Given the description of an element on the screen output the (x, y) to click on. 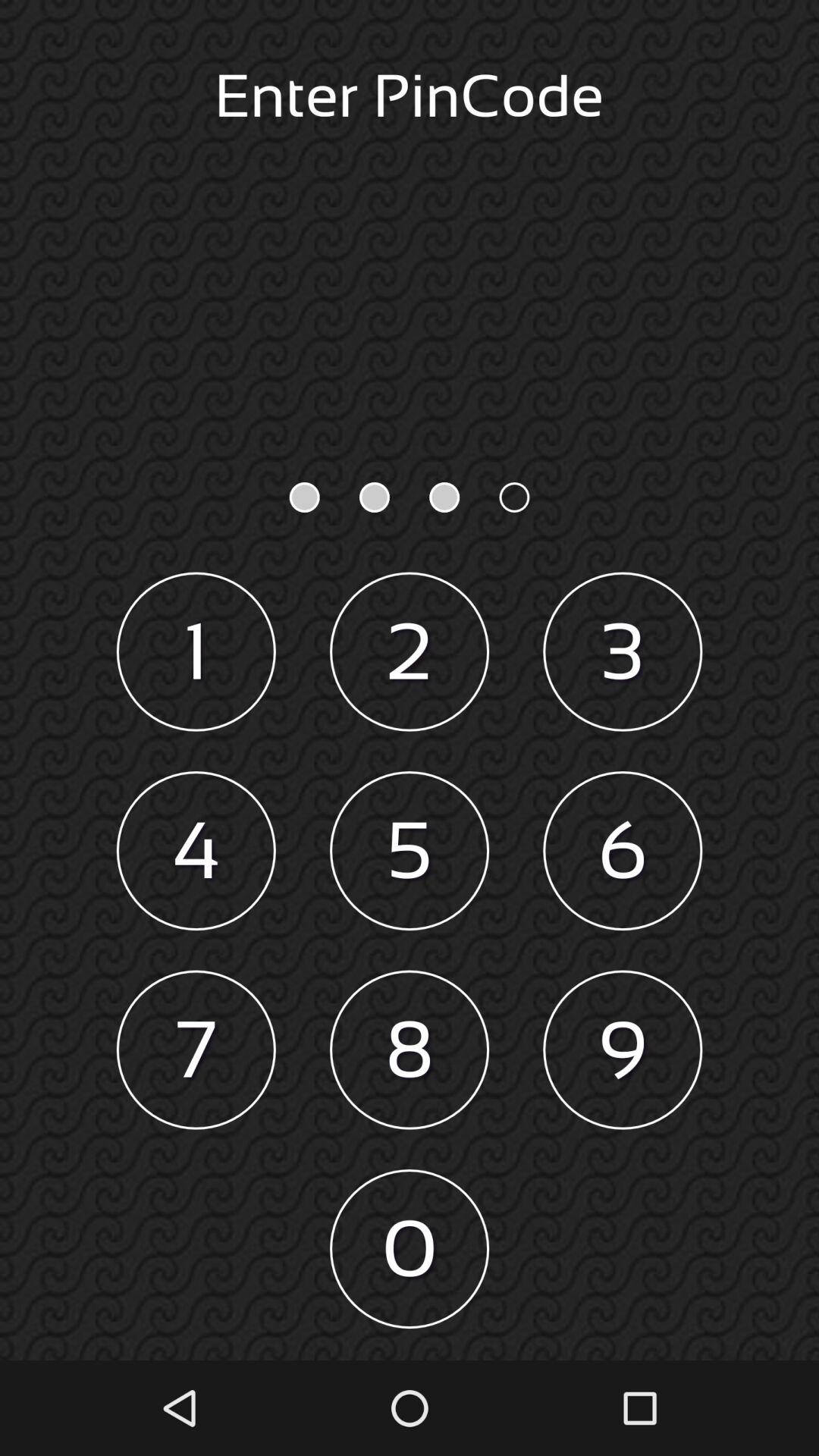
click item above 0 icon (409, 1049)
